Given the description of an element on the screen output the (x, y) to click on. 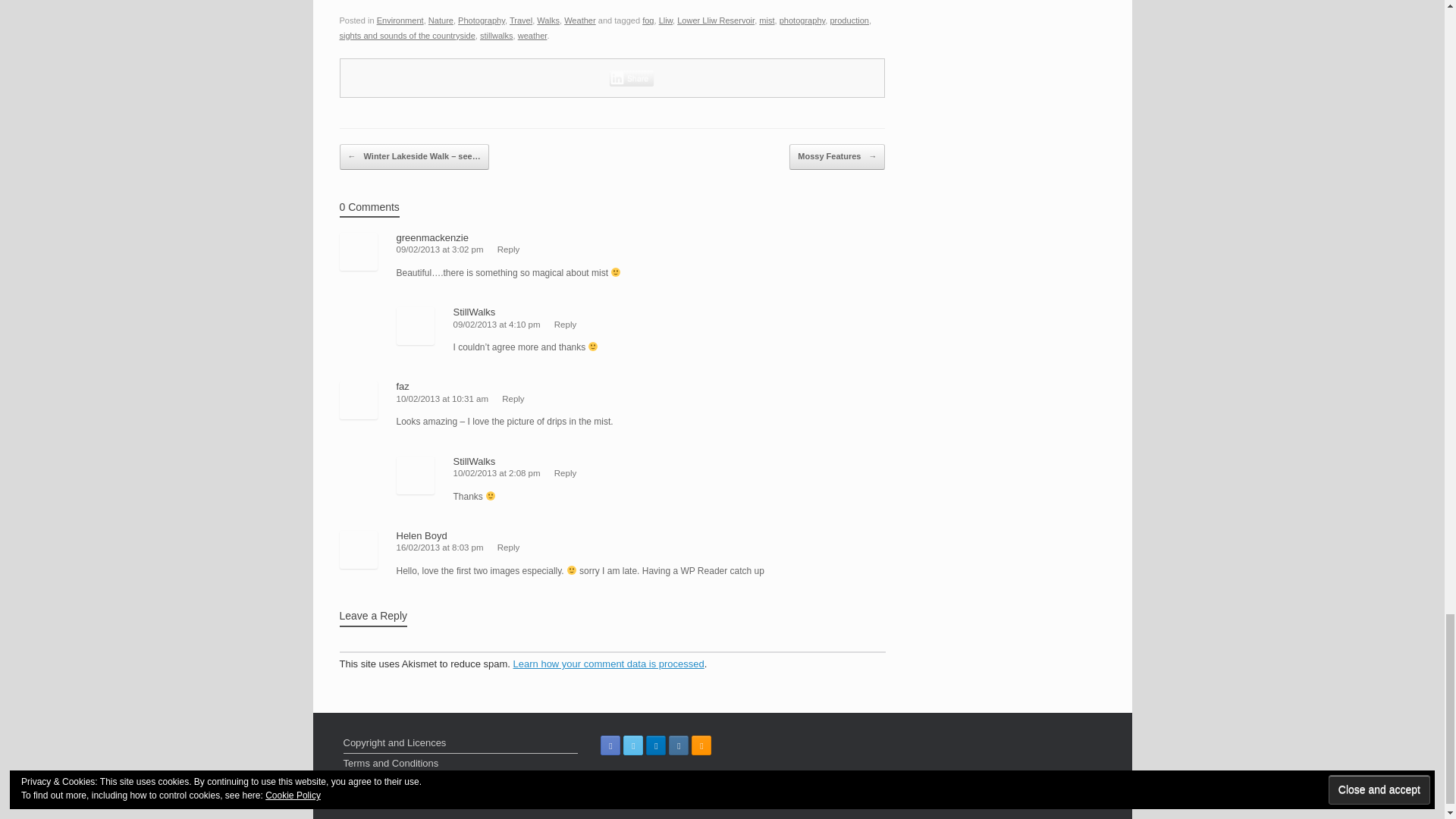
Nature (440, 20)
Environment (400, 20)
Photography (481, 20)
